Given the description of an element on the screen output the (x, y) to click on. 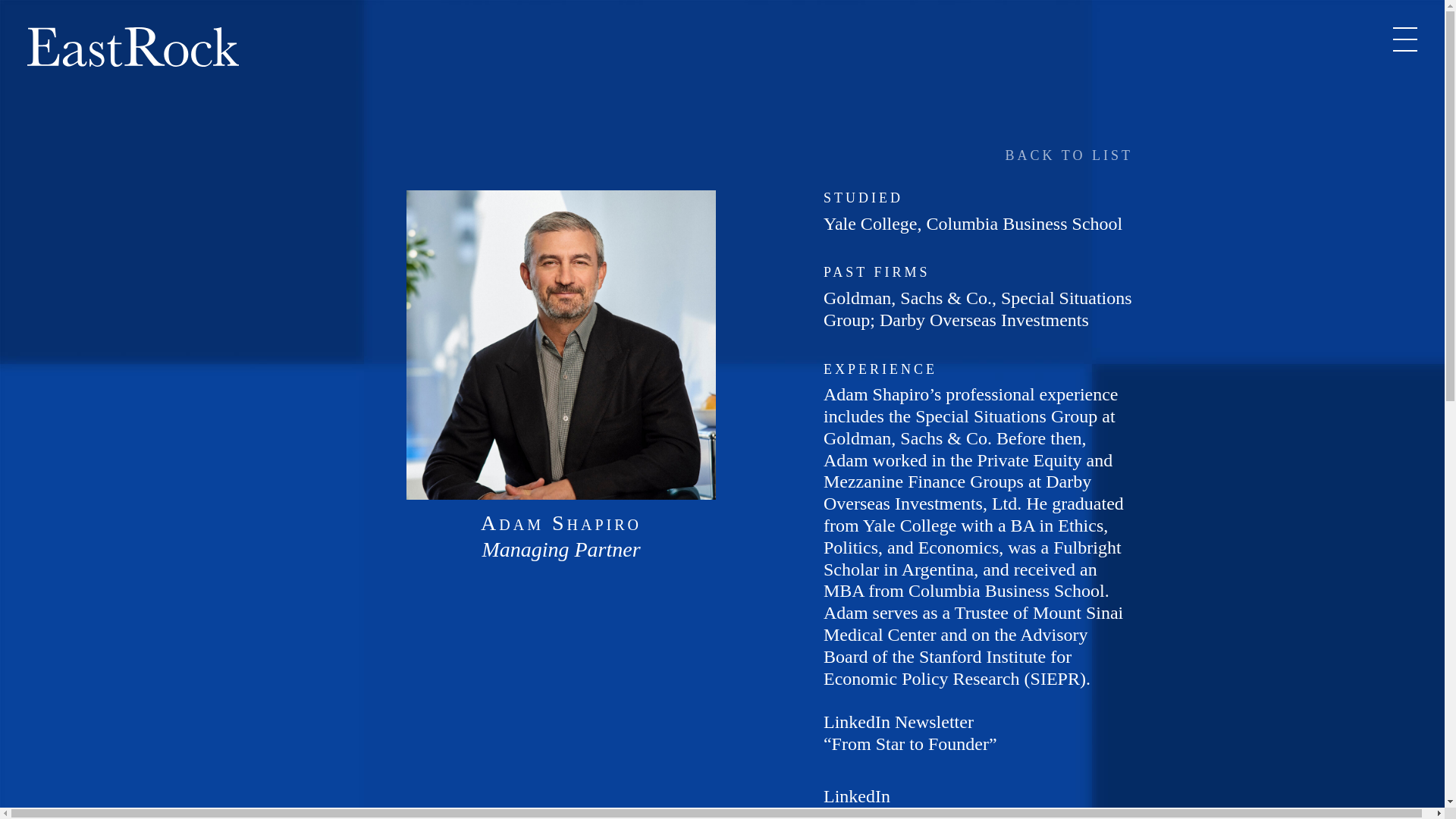
LinkedIn (856, 796)
BACK TO LIST (1069, 155)
